Given the description of an element on the screen output the (x, y) to click on. 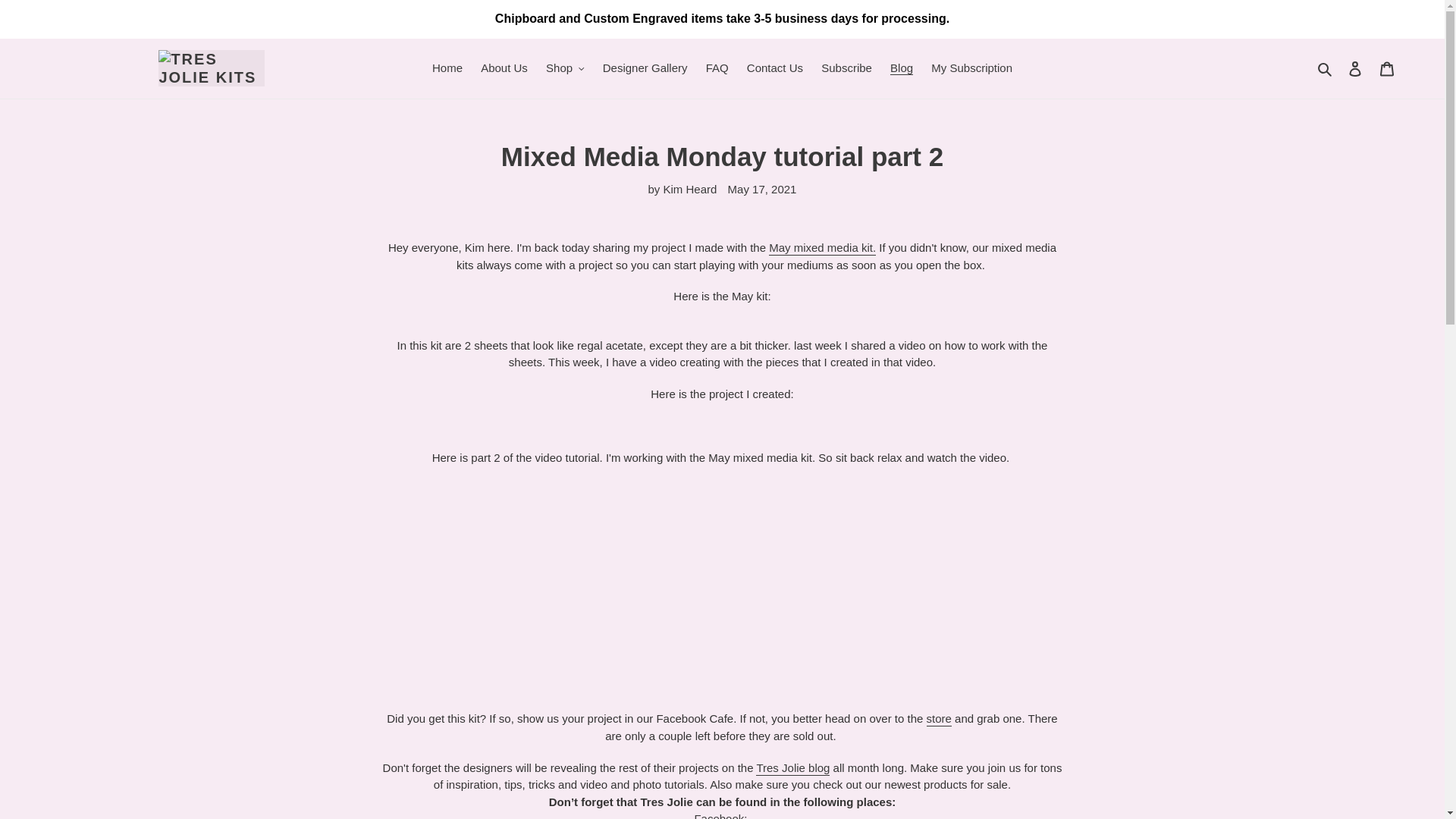
Log in (1355, 68)
Contact Us (774, 68)
Blog (901, 68)
Tres Jolie Facebook page (721, 815)
Designer Gallery (645, 68)
YouTube video player (721, 585)
My Subscription (971, 68)
Cart (1387, 68)
Subscribe (846, 68)
Shop (565, 68)
About Us (504, 68)
Home (447, 68)
Search (1326, 67)
FAQ (717, 68)
